Given the description of an element on the screen output the (x, y) to click on. 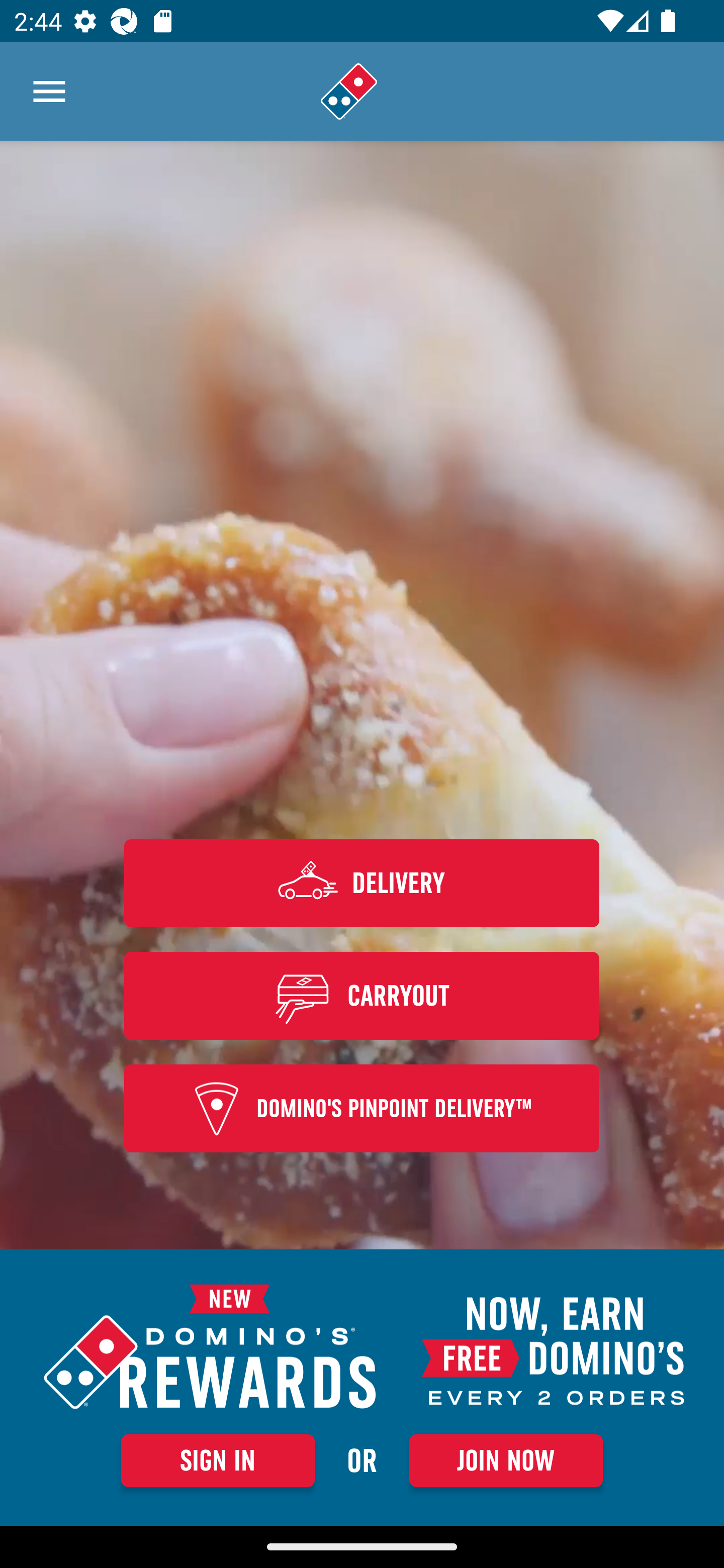
Expand Menu (49, 91)
DELIVERY (361, 882)
CARRYOUT (361, 995)
DOMINO'S PINPOINT DELIVERY™ (361, 1108)
SIGN IN (217, 1460)
JOIN NOW (506, 1460)
